Given the description of an element on the screen output the (x, y) to click on. 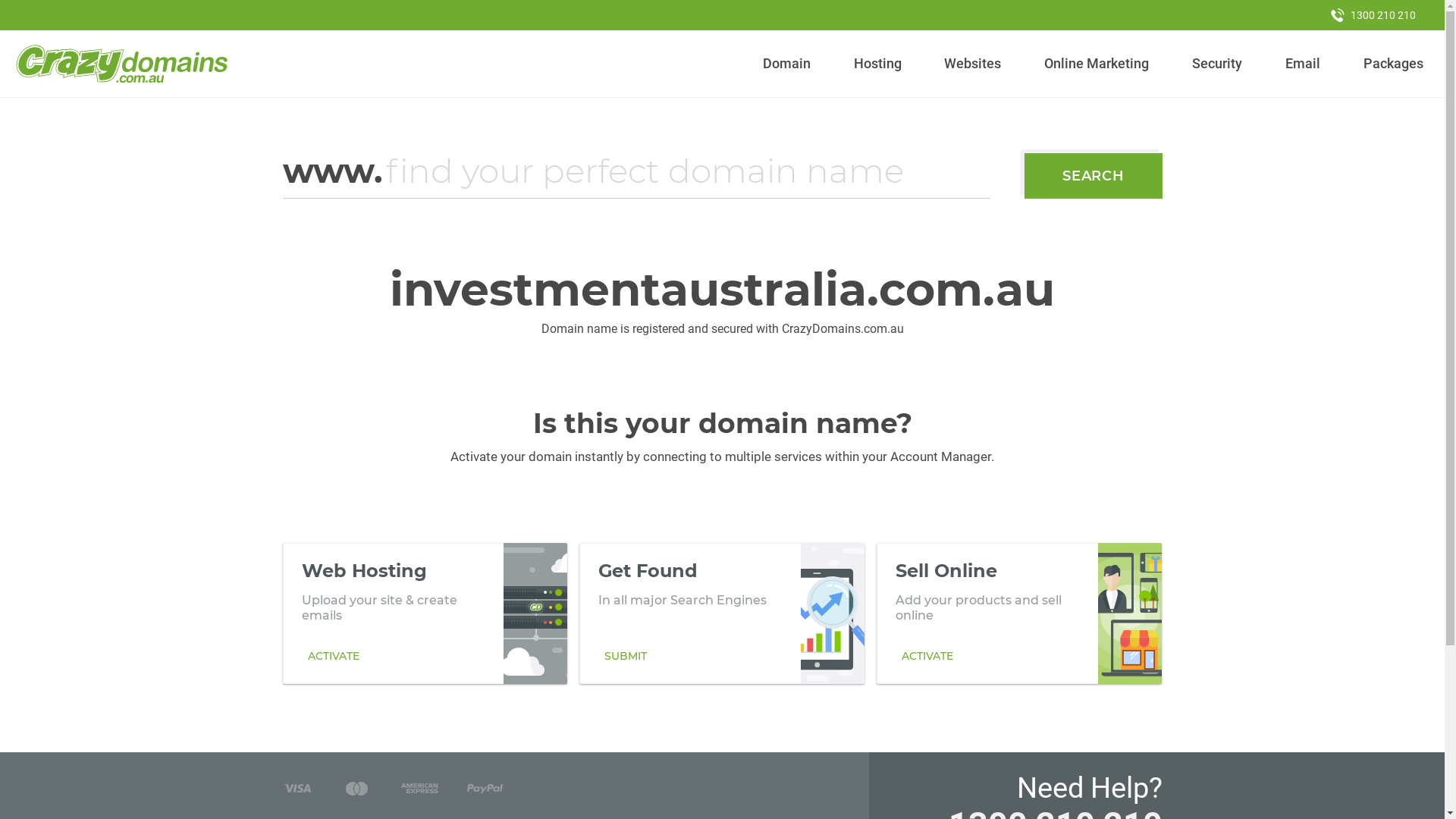
Sell Online
Add your products and sell online
ACTIVATE Element type: text (1018, 613)
1300 210 210 Element type: text (1373, 15)
Web Hosting
Upload your site & create emails
ACTIVATE Element type: text (424, 613)
Security Element type: text (1217, 63)
Websites Element type: text (972, 63)
Hosting Element type: text (877, 63)
Packages Element type: text (1392, 63)
Email Element type: text (1302, 63)
SEARCH Element type: text (1092, 175)
Domain Element type: text (786, 63)
Get Found
In all major Search Engines
SUBMIT Element type: text (721, 613)
Online Marketing Element type: text (1096, 63)
